Given the description of an element on the screen output the (x, y) to click on. 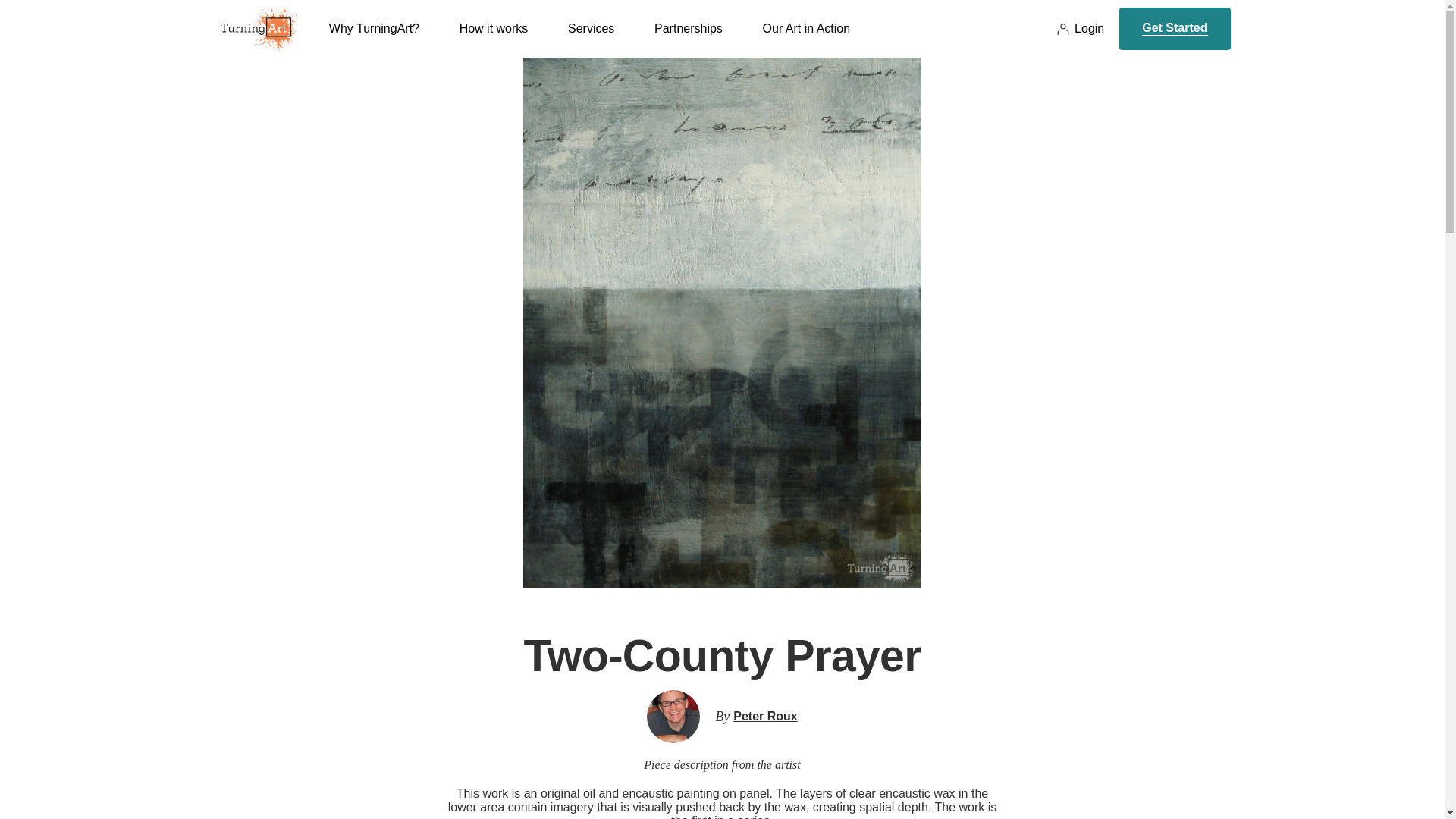
Why TurningArt? (374, 38)
Get Started (1174, 28)
Partnerships (687, 38)
Peter Roux (764, 716)
How it works (494, 38)
Our Art in Action (806, 38)
Login (1080, 28)
Services (590, 38)
